Given the description of an element on the screen output the (x, y) to click on. 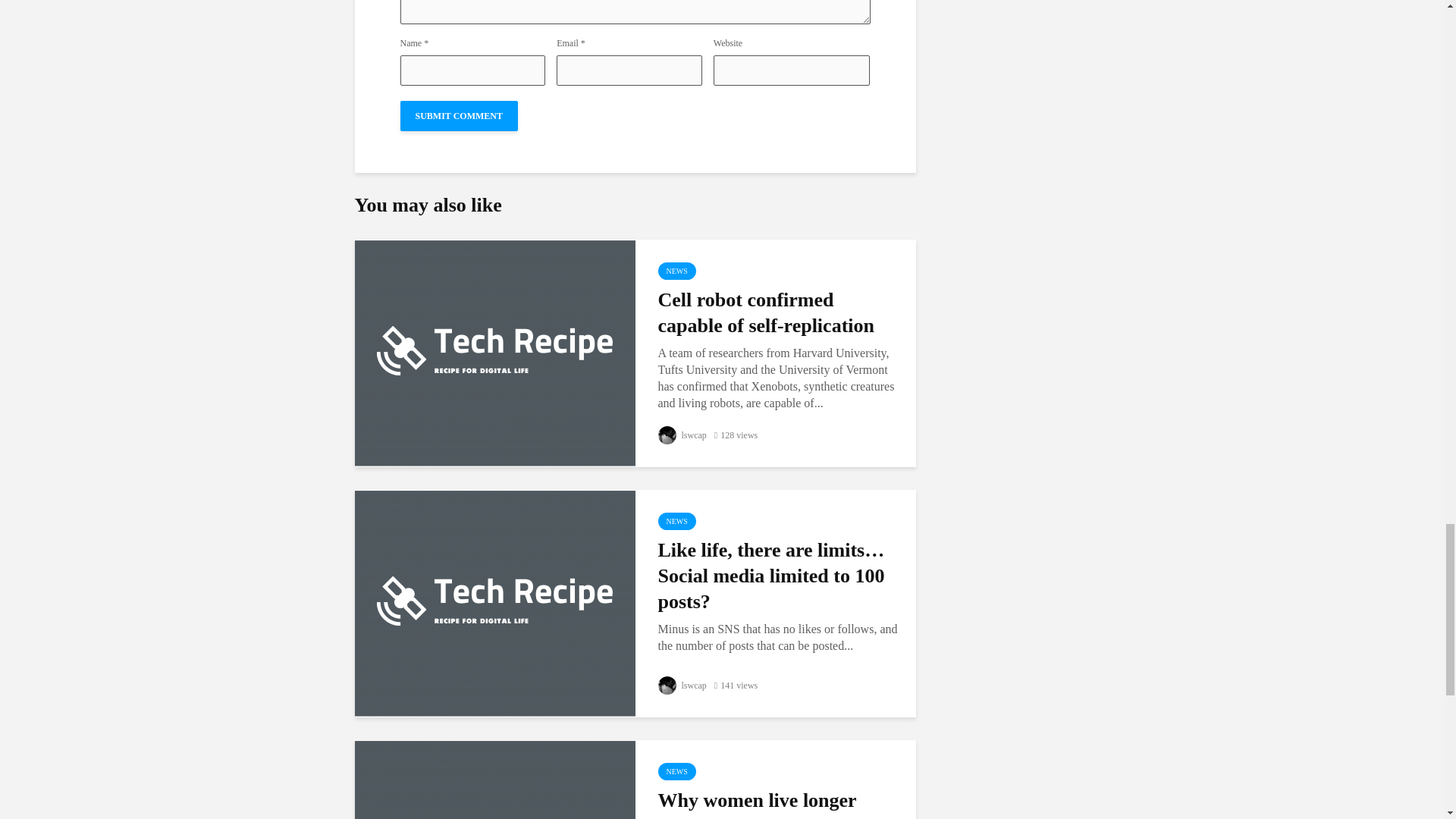
lswcap (682, 685)
lswcap (682, 434)
NEWS (676, 271)
Why women live longer than men (778, 803)
Cell robot confirmed capable of self-replication (494, 350)
Cell robot confirmed capable of self-replication (778, 313)
Submit Comment (459, 115)
NEWS (676, 520)
NEWS (676, 771)
Submit Comment (459, 115)
